Given the description of an element on the screen output the (x, y) to click on. 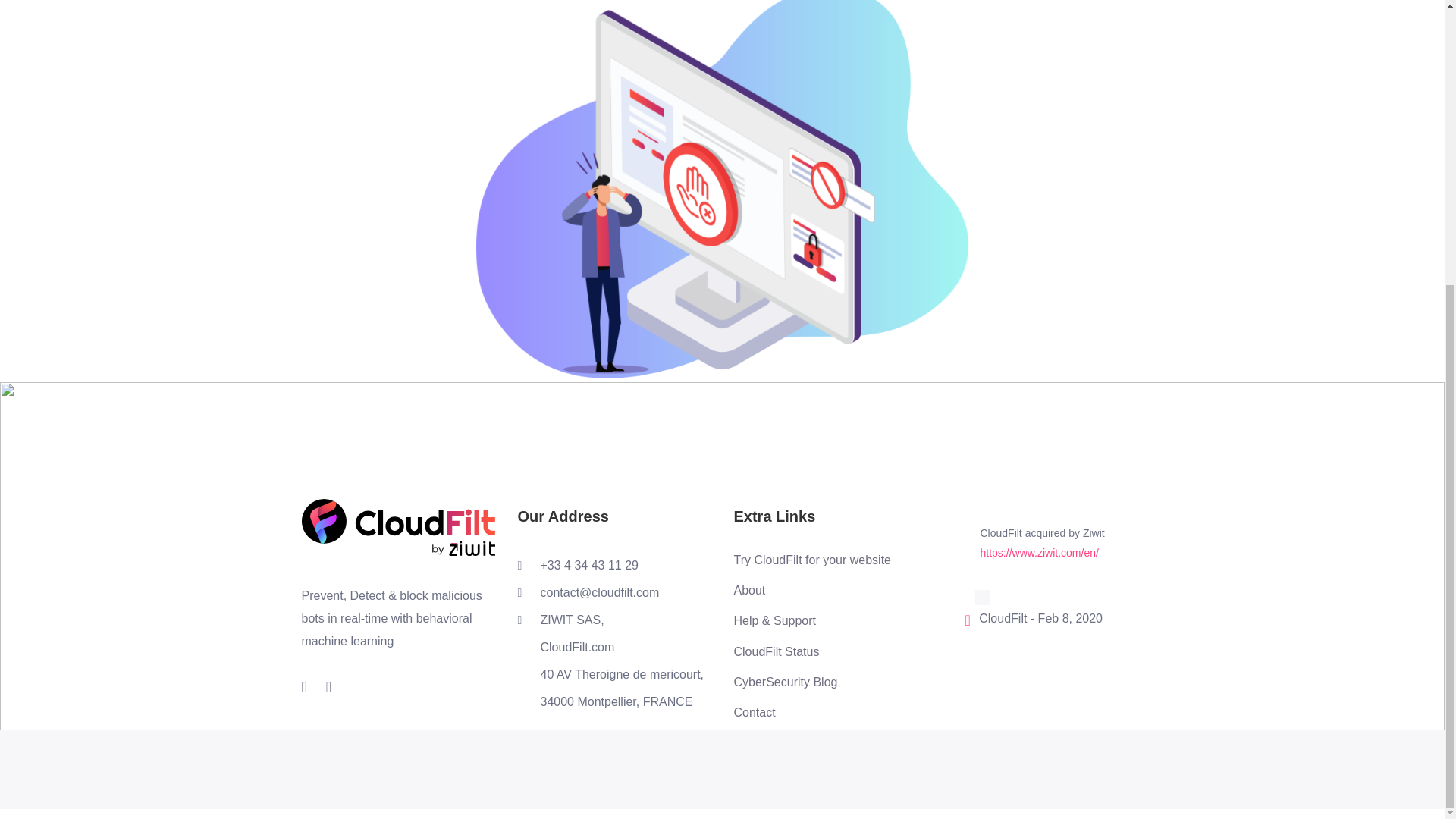
CloudFilt Status (812, 651)
Try CloudFilt for your website (812, 559)
About (812, 590)
Contact (812, 712)
CyberSecurity Blog (812, 682)
